Given the description of an element on the screen output the (x, y) to click on. 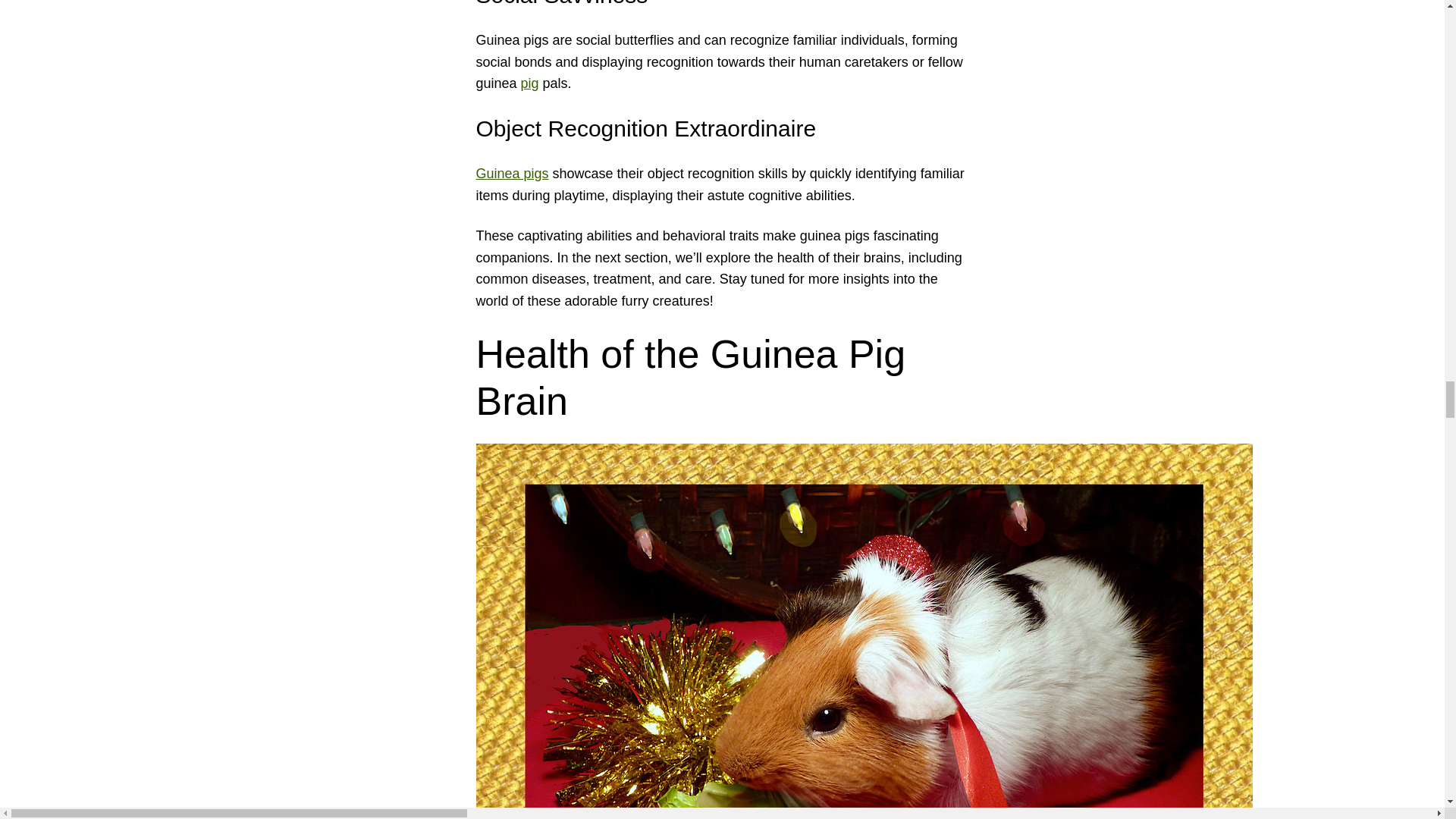
pig (529, 83)
Guinea pigs (512, 173)
